Given the description of an element on the screen output the (x, y) to click on. 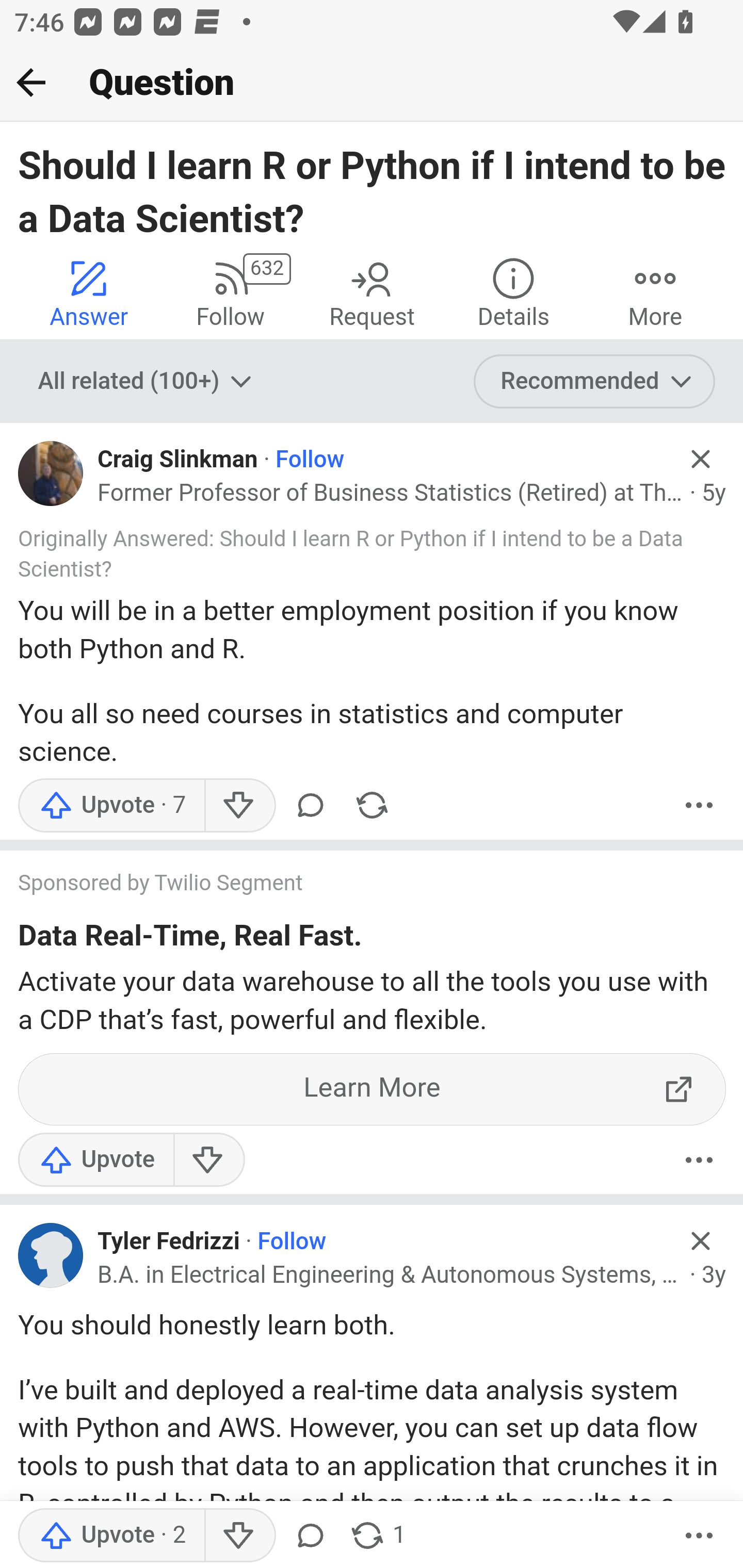
Back Question (371, 82)
Back (30, 82)
Answer (88, 292)
632 Follow (230, 292)
Request (371, 292)
Details (513, 292)
More (655, 292)
All related (100+) (146, 381)
Recommended (594, 381)
Hide (700, 459)
Profile photo for Craig Slinkman (50, 473)
Craig Slinkman (177, 459)
Follow (309, 459)
5y 5 y (713, 493)
Upvote (111, 804)
Downvote (238, 804)
Comment (310, 804)
Share (372, 804)
More (699, 804)
Sponsored by Twilio Segment (352, 884)
Data Real-Time, Real Fast. (189, 939)
Learn More ExternalLink (372, 1090)
Upvote (95, 1160)
Downvote (208, 1160)
More (699, 1160)
Hide (700, 1240)
Profile photo for Tyler Fedrizzi (50, 1255)
Tyler Fedrizzi (168, 1241)
Follow (291, 1241)
3y 3 y (713, 1274)
Upvote (111, 1535)
Downvote (238, 1535)
Comment (310, 1535)
1 share (377, 1535)
More (699, 1535)
